Given the description of an element on the screen output the (x, y) to click on. 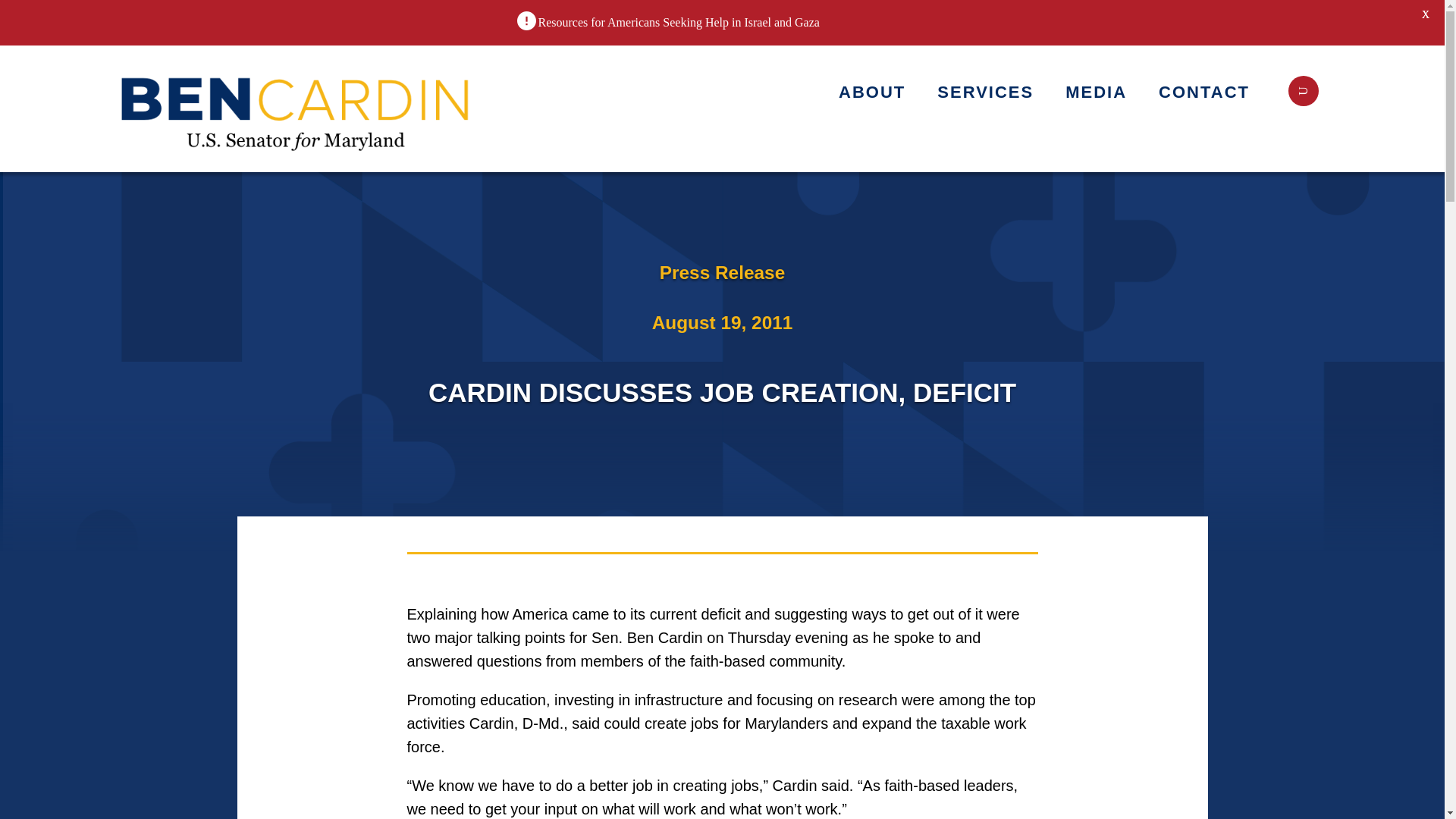
Large-Inner (296, 108)
